Given the description of an element on the screen output the (x, y) to click on. 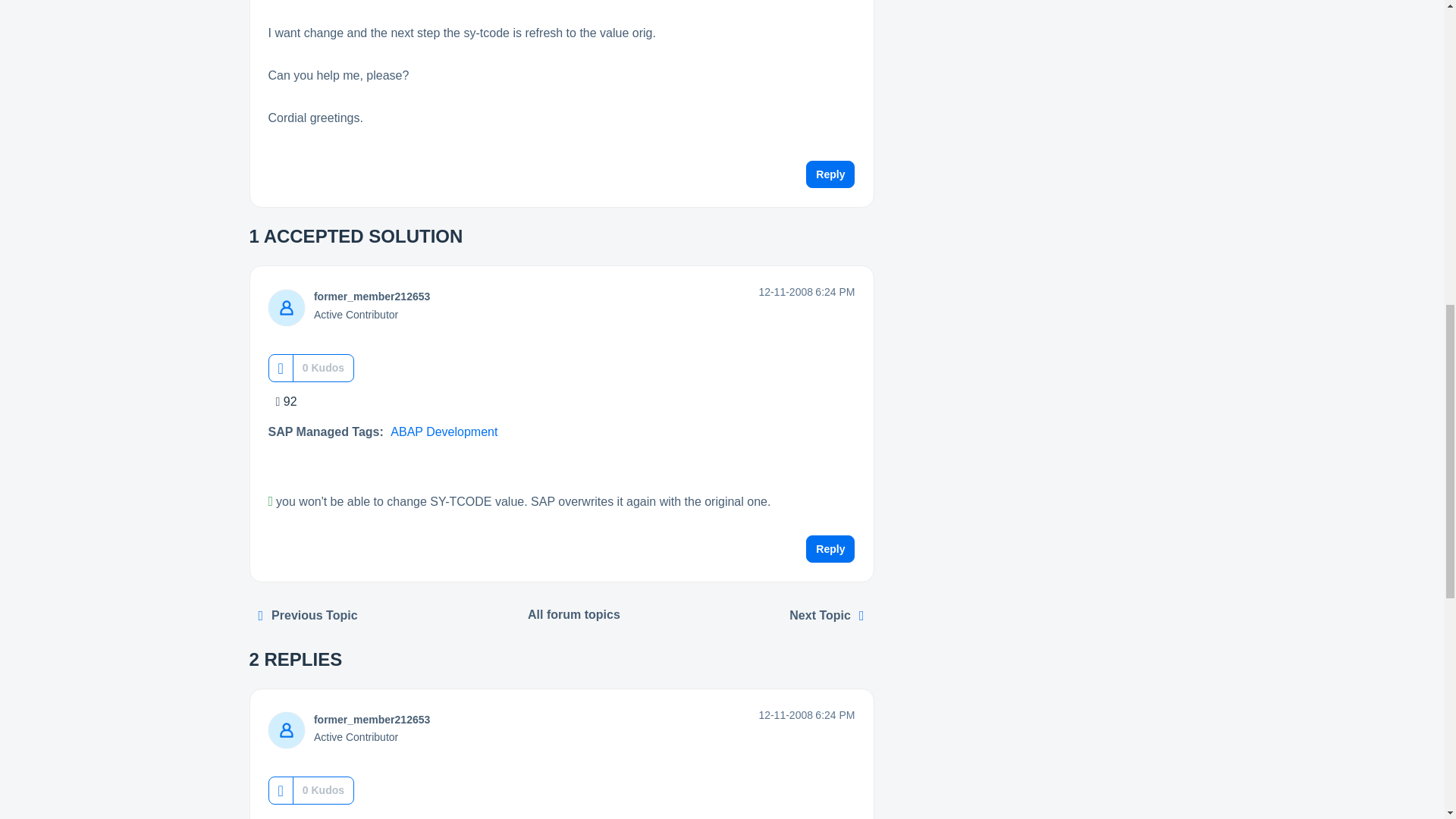
The total number of kudos this post has received. (323, 367)
Reply (830, 548)
Reply (830, 174)
All forum topics (574, 614)
ABAP Development (443, 431)
Next Topic (825, 615)
Previous Topic (308, 615)
